Given the description of an element on the screen output the (x, y) to click on. 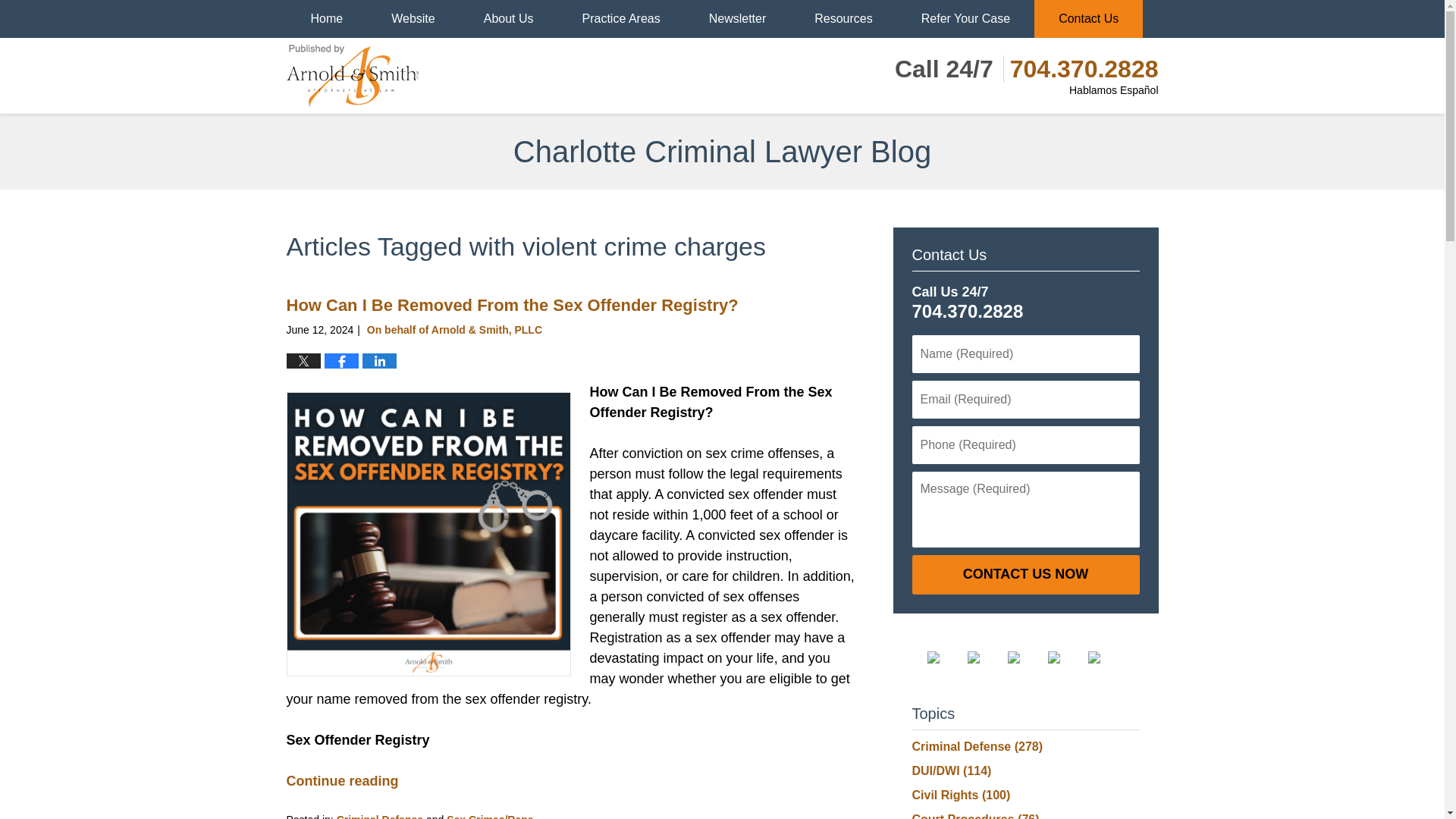
View all posts in Criminal Defense (379, 816)
Website (413, 18)
Criminal Defense (379, 816)
How Can I Be Removed From the Sex Offender Registry? (512, 304)
Charlotte Criminal Lawyer Blog (352, 76)
Practice Areas (620, 18)
Refer Your Case (964, 18)
Home (327, 18)
Continue reading (342, 780)
Contact Us (1087, 18)
